Given the description of an element on the screen output the (x, y) to click on. 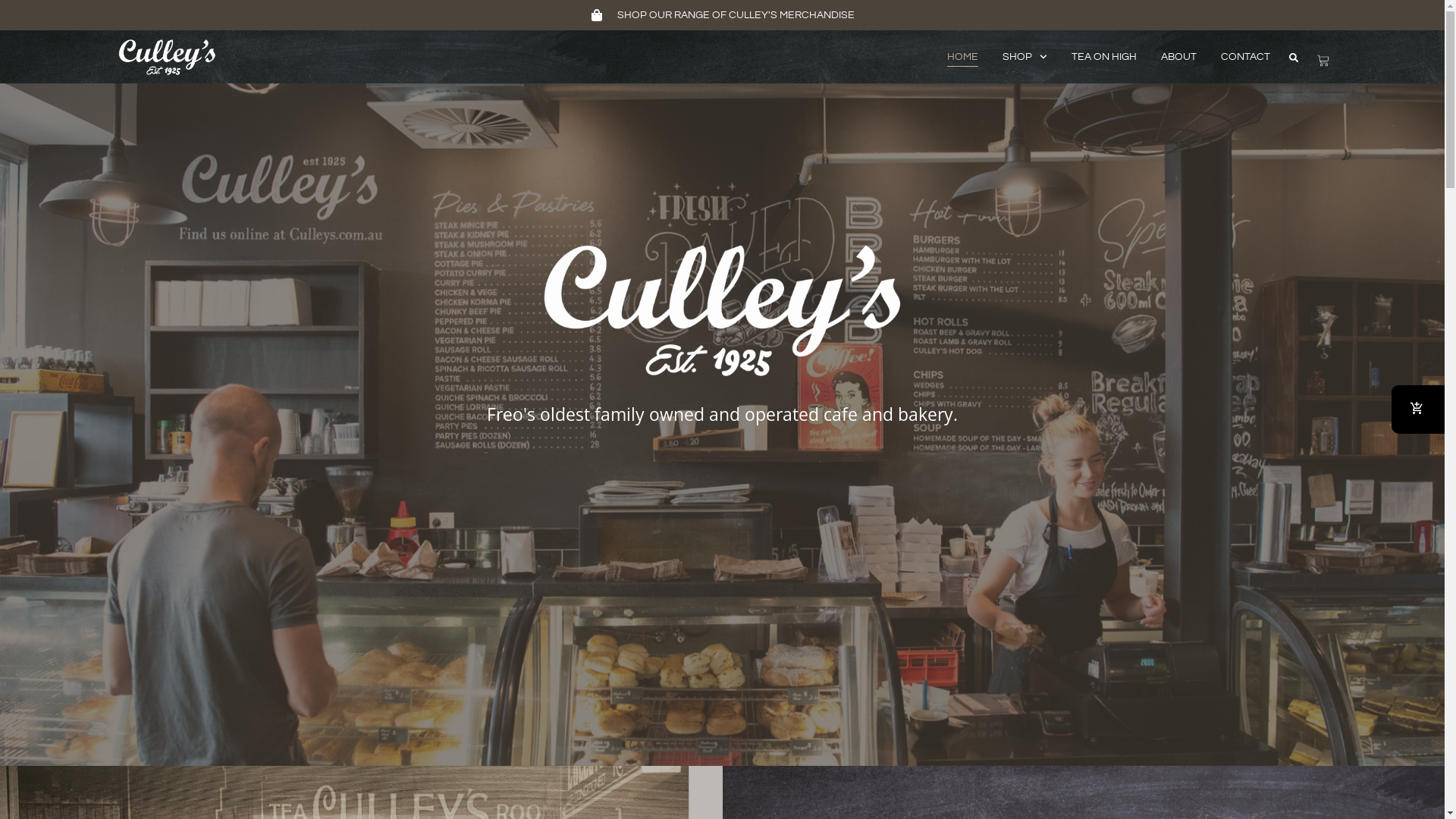
SHOP Element type: text (1024, 56)
SHOP OUR RANGE OF CULLEY'S MERCHANDISE Element type: text (721, 15)
TEA ON HIGH Element type: text (1102, 56)
HOME Element type: text (962, 56)
CONTACT Element type: text (1245, 56)
$0.00 Element type: text (1322, 60)
ABOUT Element type: text (1177, 56)
